Given the description of an element on the screen output the (x, y) to click on. 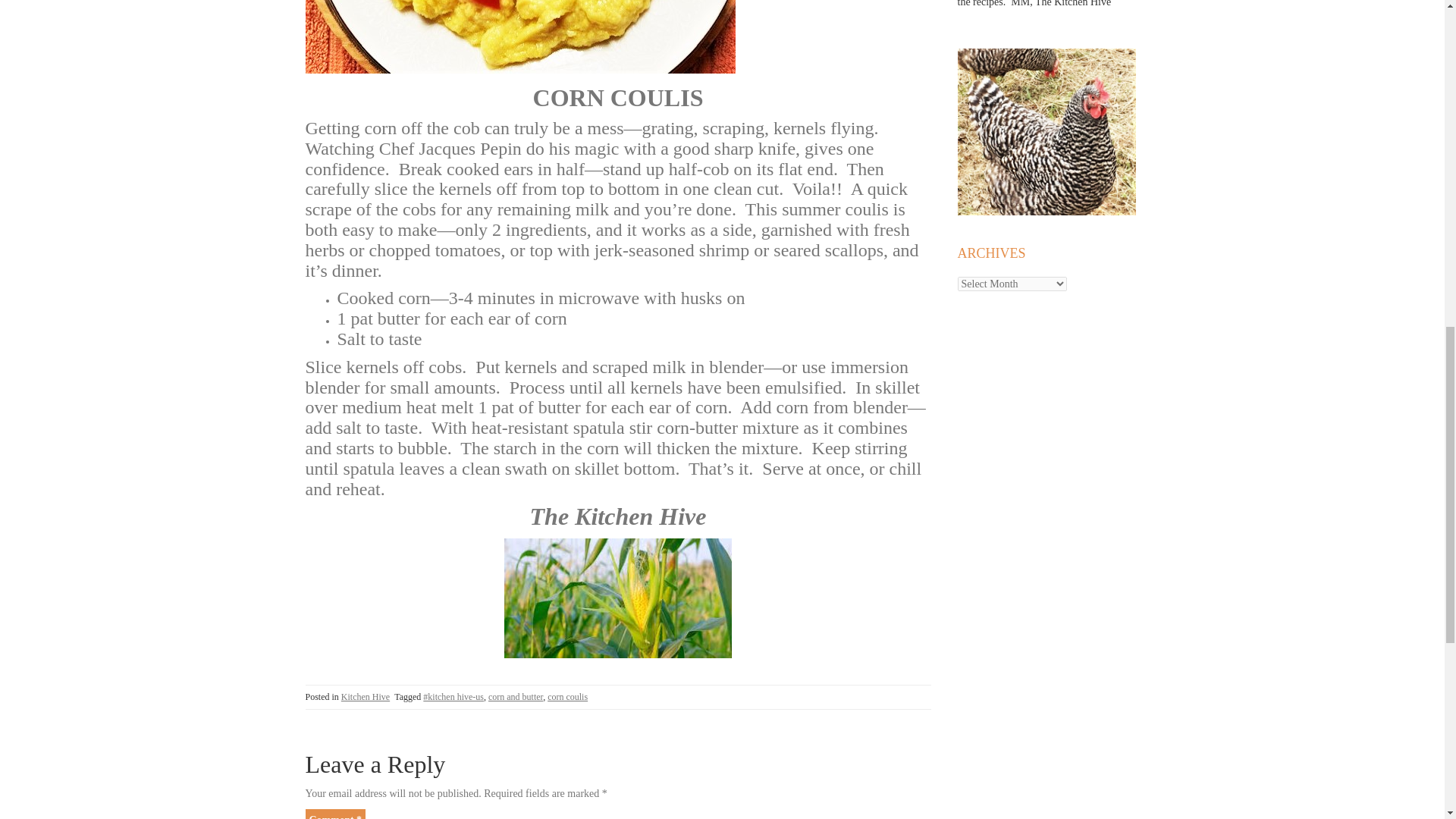
corn coulis (567, 696)
Kitchen Hive (365, 696)
corn and butter (515, 696)
